Given the description of an element on the screen output the (x, y) to click on. 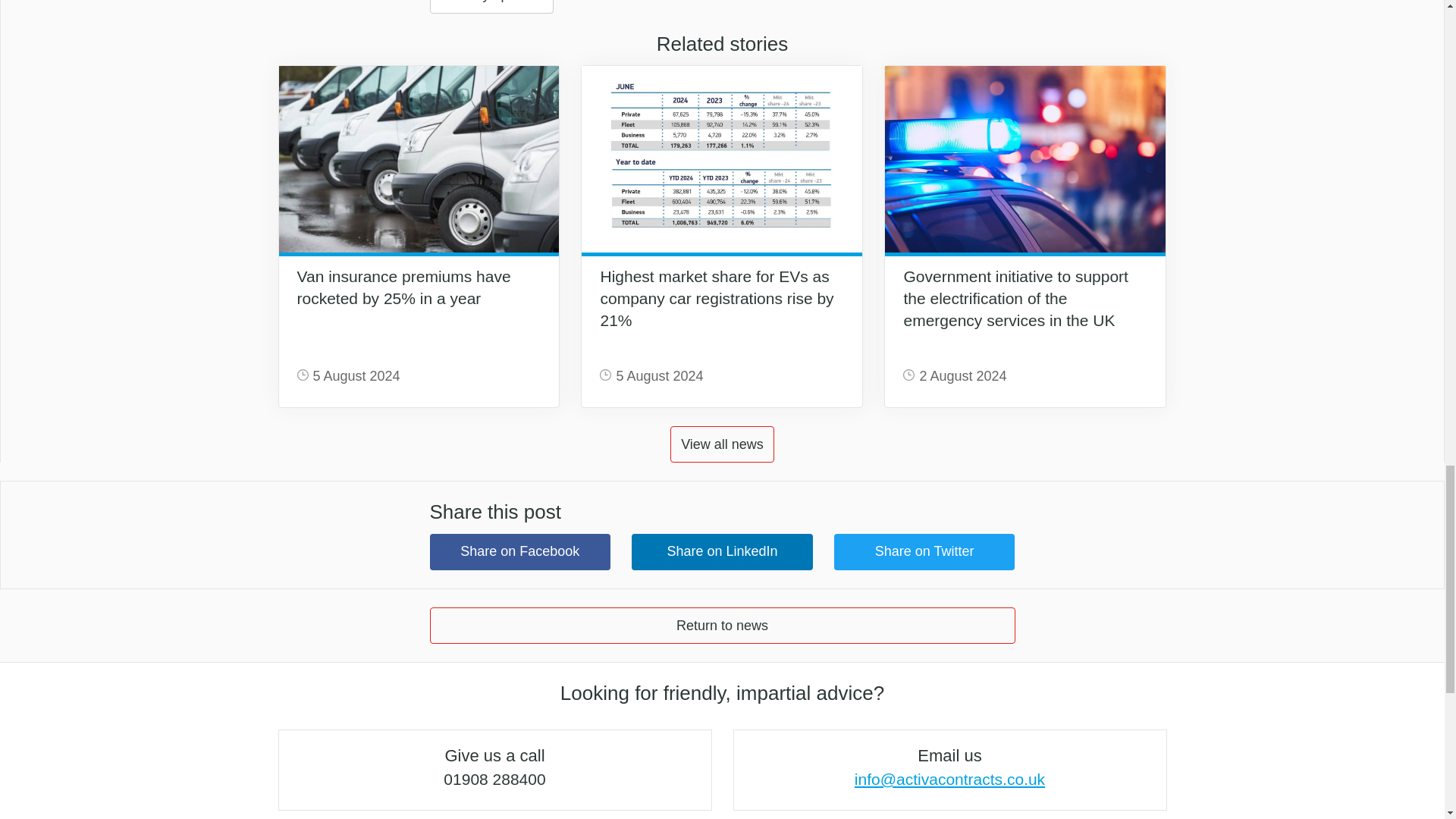
Return to news (721, 625)
View all news (721, 443)
Share on Twitter (924, 551)
Share on LinkedIn (721, 551)
01908 288400 (494, 778)
Industry updates (491, 6)
Share on Facebook (519, 551)
